Given the description of an element on the screen output the (x, y) to click on. 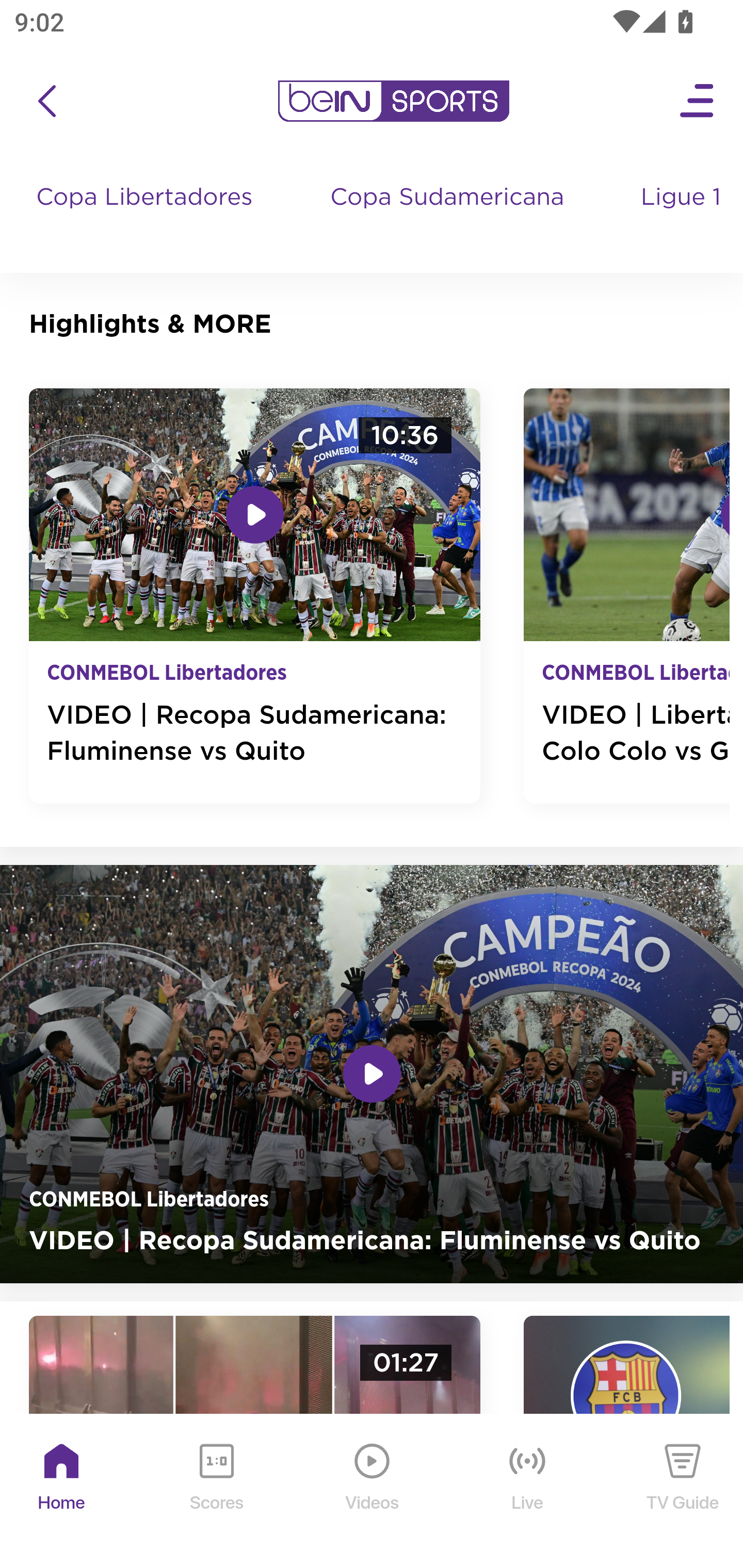
en-us?platform=mobile_android bein logo (392, 101)
icon back (46, 101)
Open Menu Icon (697, 101)
Copa Libertadores (146, 216)
Copa Sudamericana (448, 216)
Ligue 1 (682, 216)
Home Home Icon Home (61, 1491)
Scores Scores Icon Scores (216, 1491)
Videos Videos Icon Videos (372, 1491)
TV Guide TV Guide Icon TV Guide (682, 1491)
